Given the description of an element on the screen output the (x, y) to click on. 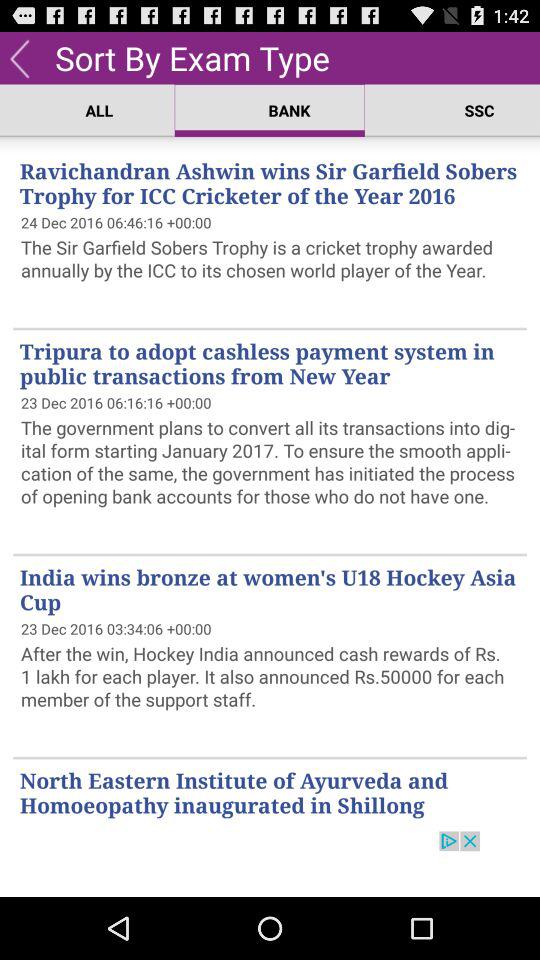
go back (19, 57)
